Given the description of an element on the screen output the (x, y) to click on. 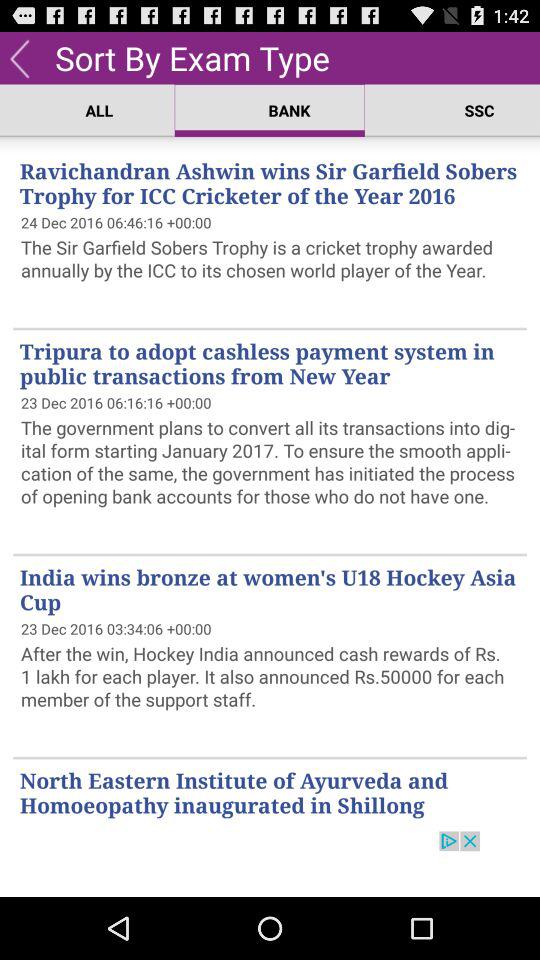
go back (19, 57)
